Given the description of an element on the screen output the (x, y) to click on. 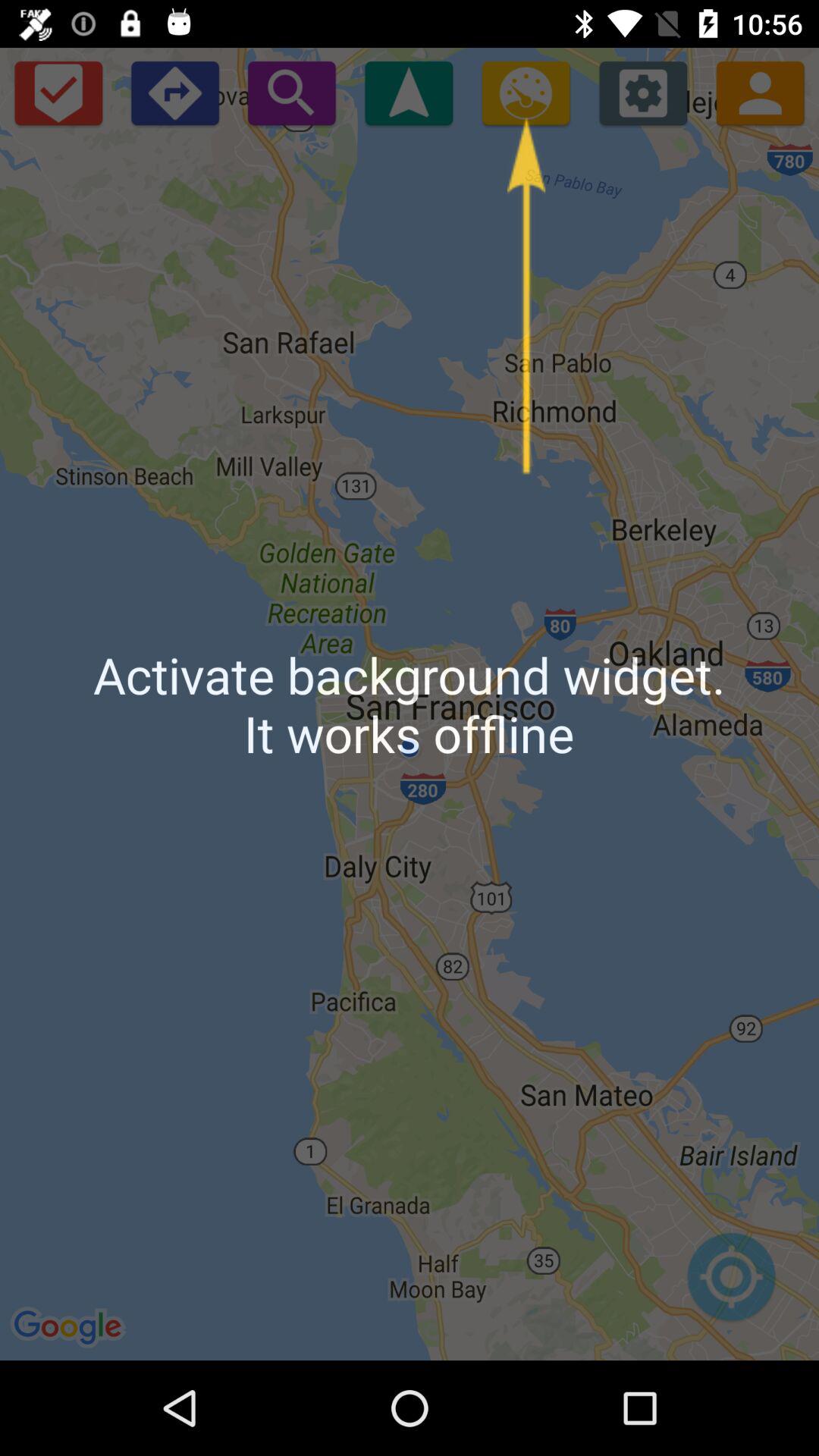
get directions (174, 92)
